Given the description of an element on the screen output the (x, y) to click on. 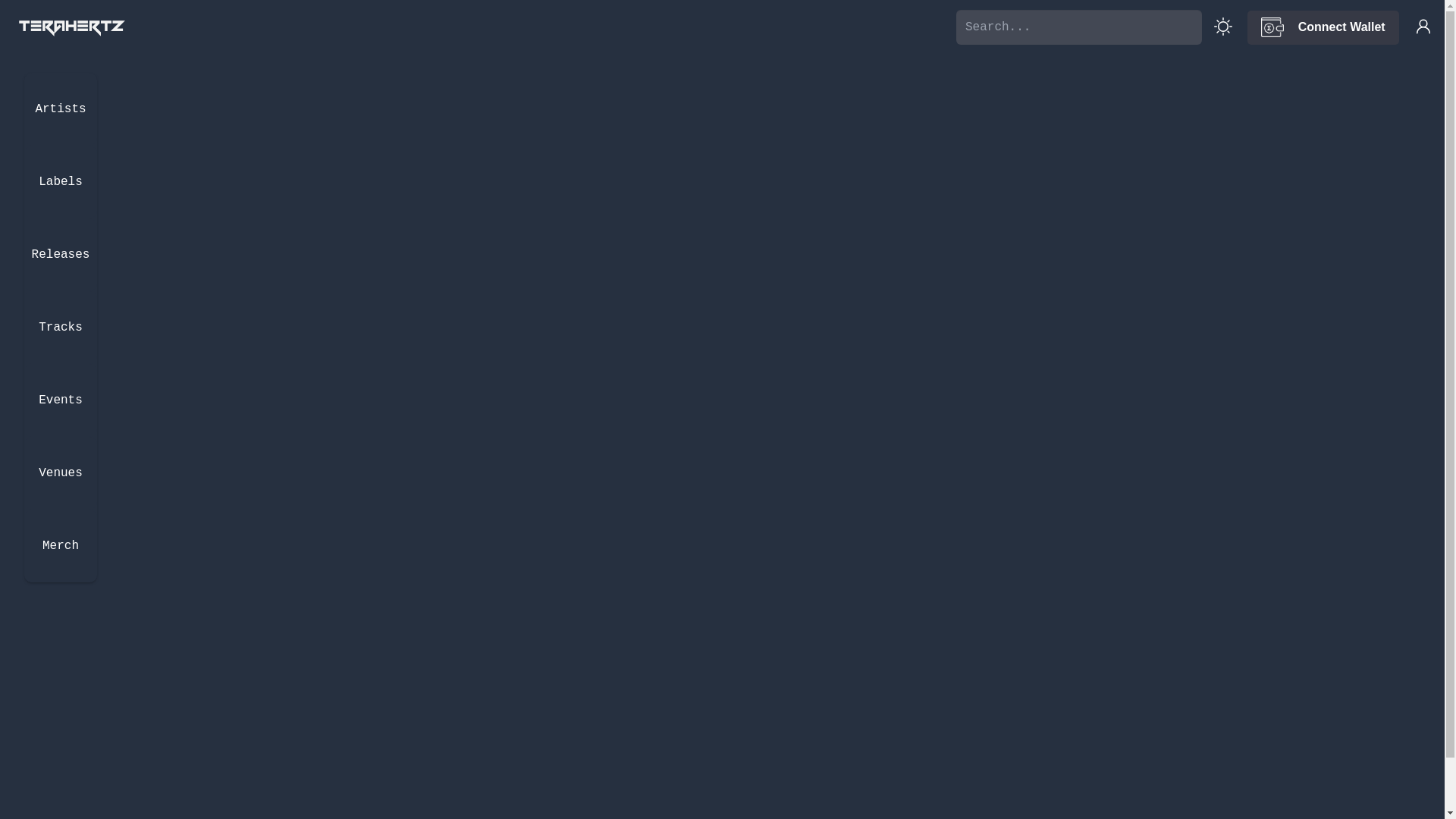
Labels Element type: text (60, 181)
Releases Element type: text (60, 254)
Tracks Element type: text (60, 327)
Merch Element type: text (60, 545)
Events Element type: text (60, 400)
Venues Element type: text (60, 472)
Artists Element type: text (60, 108)
